Given the description of an element on the screen output the (x, y) to click on. 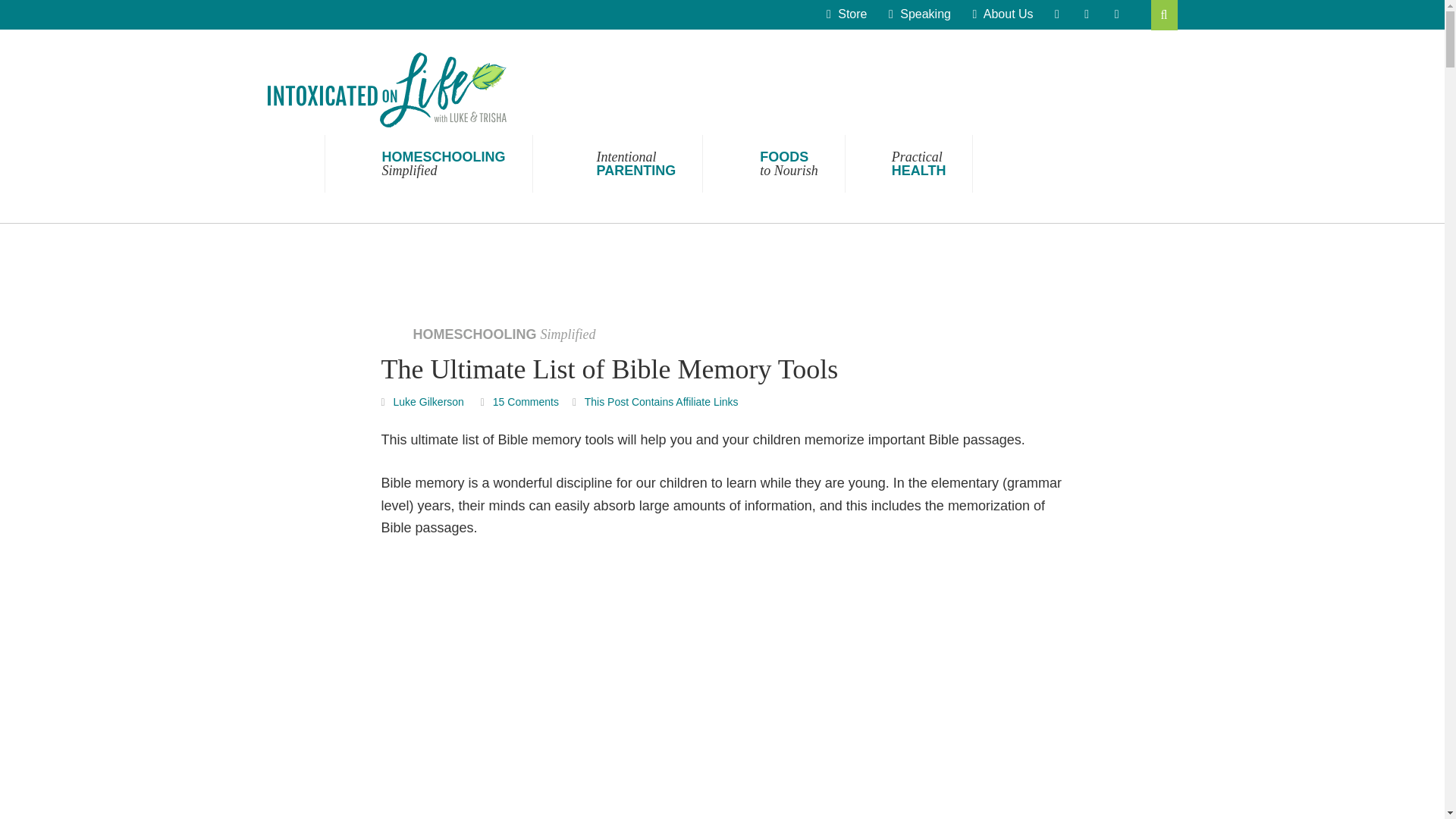
Intoxicated On Life (385, 89)
About Us (1002, 14)
Luke Gilkerson (428, 401)
Store (846, 14)
The Ultimate List Of Bible Memory Tools (721, 689)
15 Comments (773, 163)
Speaking (526, 401)
HOMESCHOOLING Simplified (618, 163)
This Post Contains Affiliate Links (428, 163)
